Given the description of an element on the screen output the (x, y) to click on. 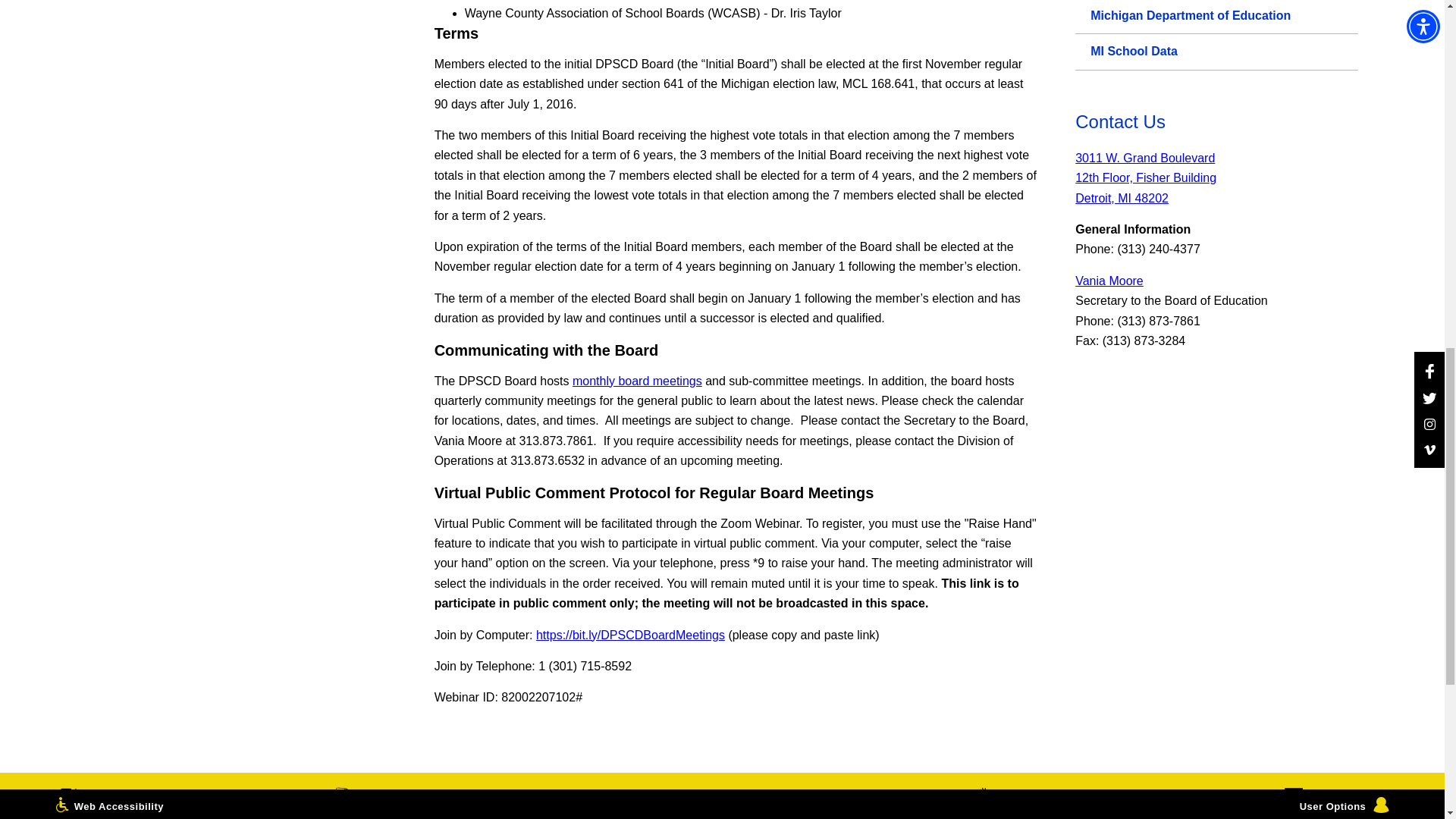
MI School Data (1216, 51)
MDE (1216, 17)
